Given the description of an element on the screen output the (x, y) to click on. 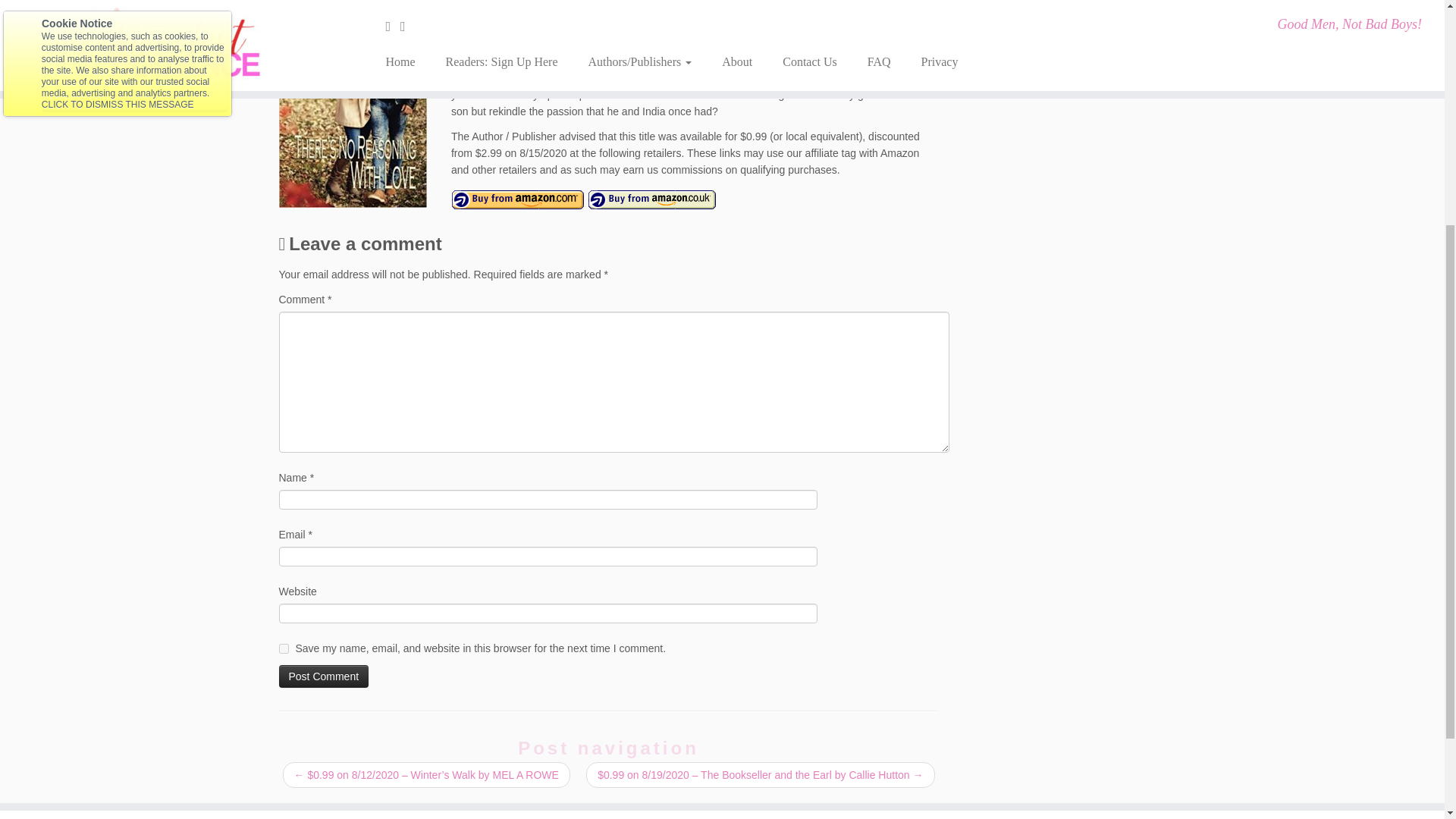
Post Comment (324, 676)
Post Comment (324, 676)
yes (283, 648)
